Given the description of an element on the screen output the (x, y) to click on. 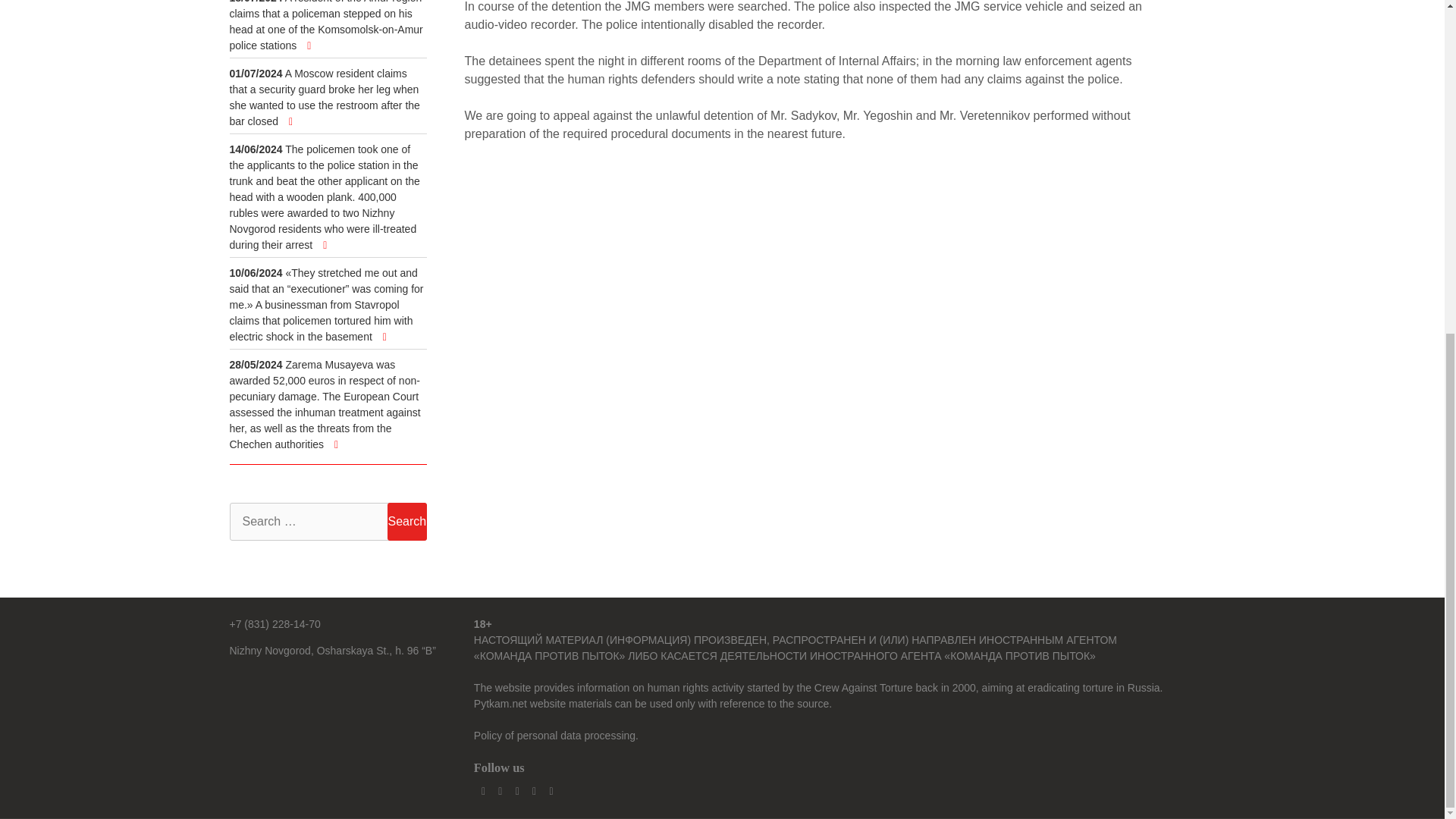
Search (406, 521)
data processing. (599, 735)
Pytkam.net (500, 703)
Search (406, 521)
Search (406, 521)
